Given the description of an element on the screen output the (x, y) to click on. 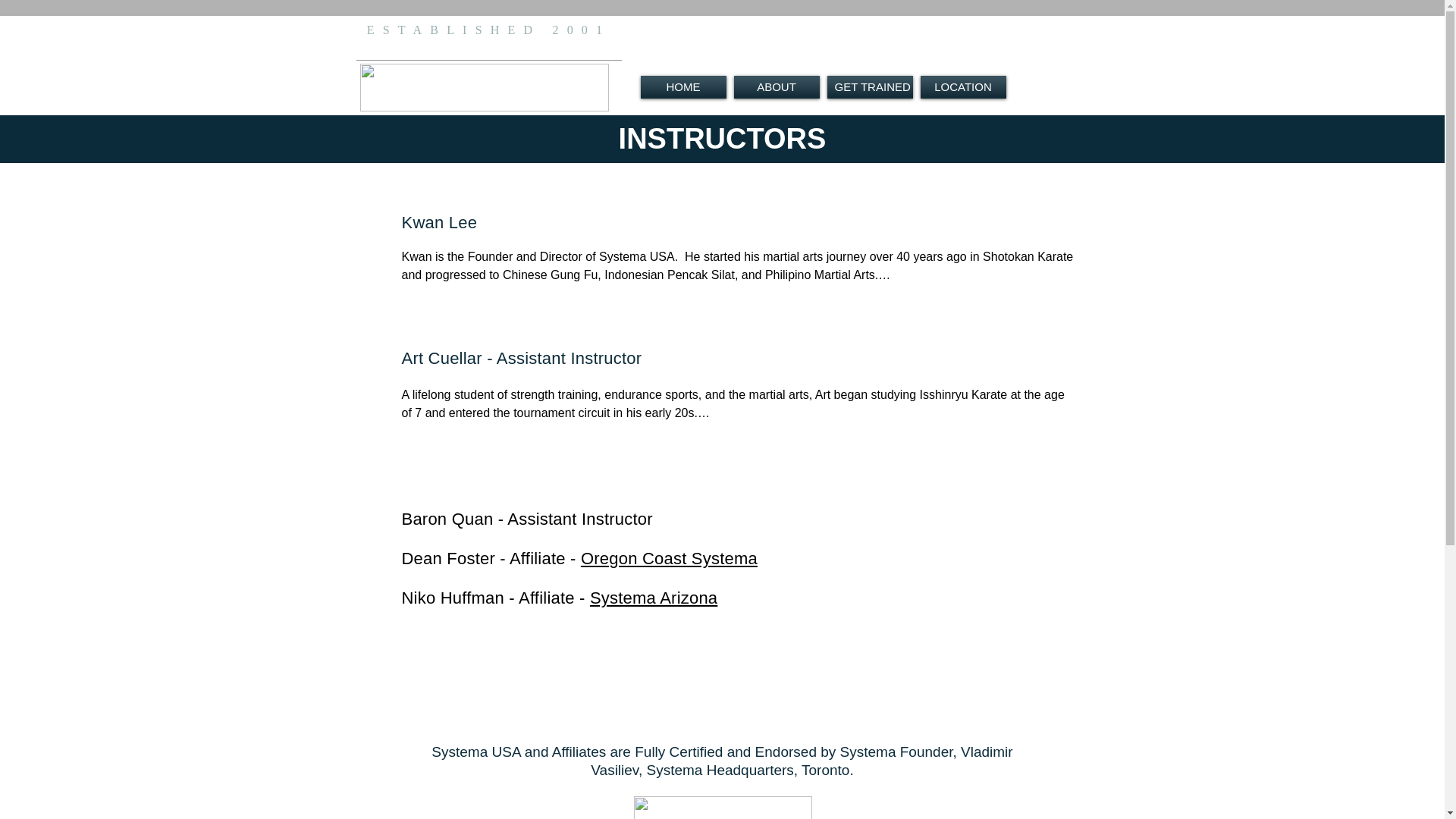
HOME (683, 87)
GET TRAINED (870, 87)
Systema Arizona (653, 597)
ABOUT (775, 87)
LOCATION (962, 87)
Oregon Coast Systema (668, 558)
